Given the description of an element on the screen output the (x, y) to click on. 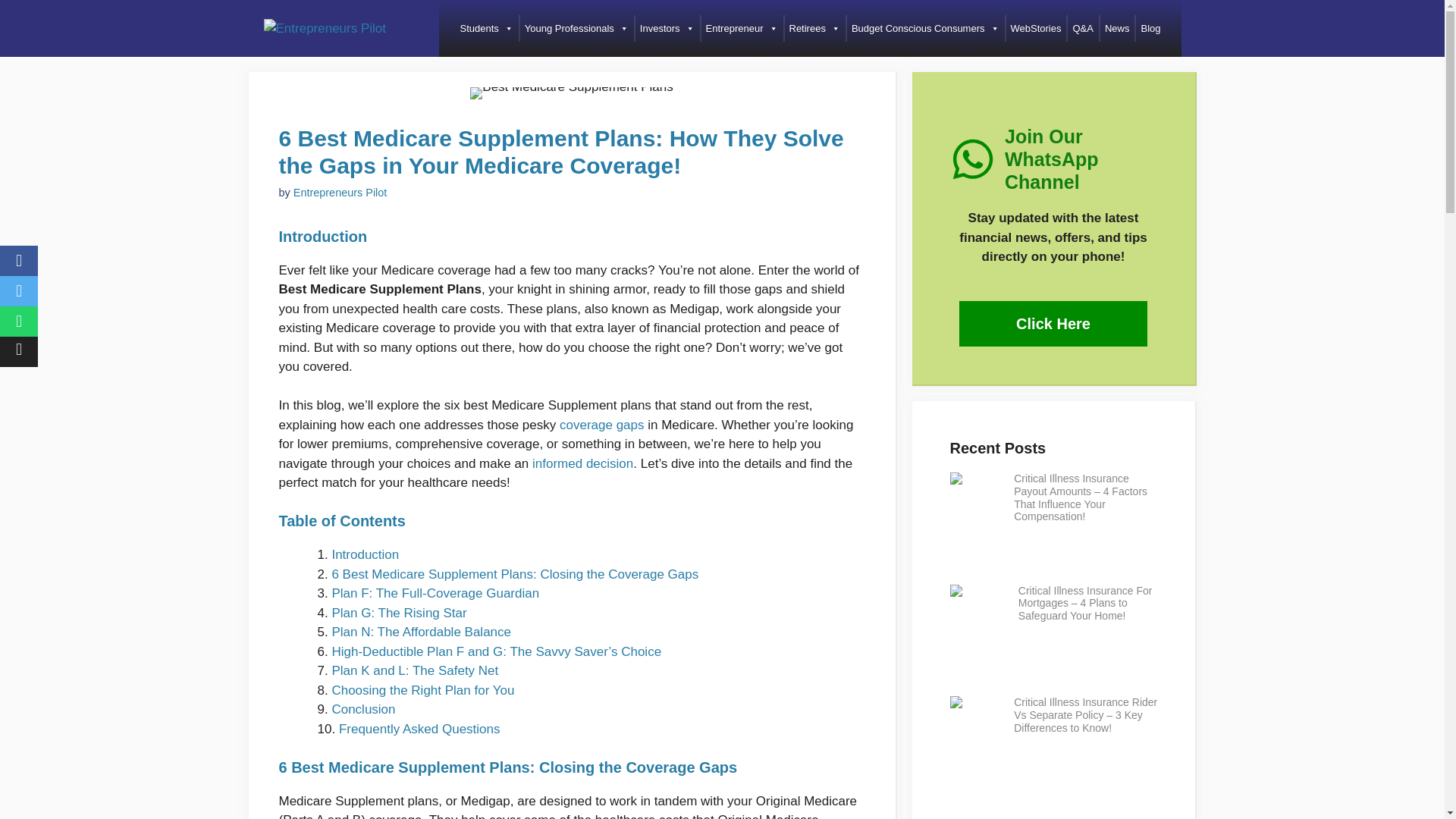
View all posts by Entrepreneurs Pilot (340, 192)
Young Professionals (576, 28)
Students (486, 28)
